Given the description of an element on the screen output the (x, y) to click on. 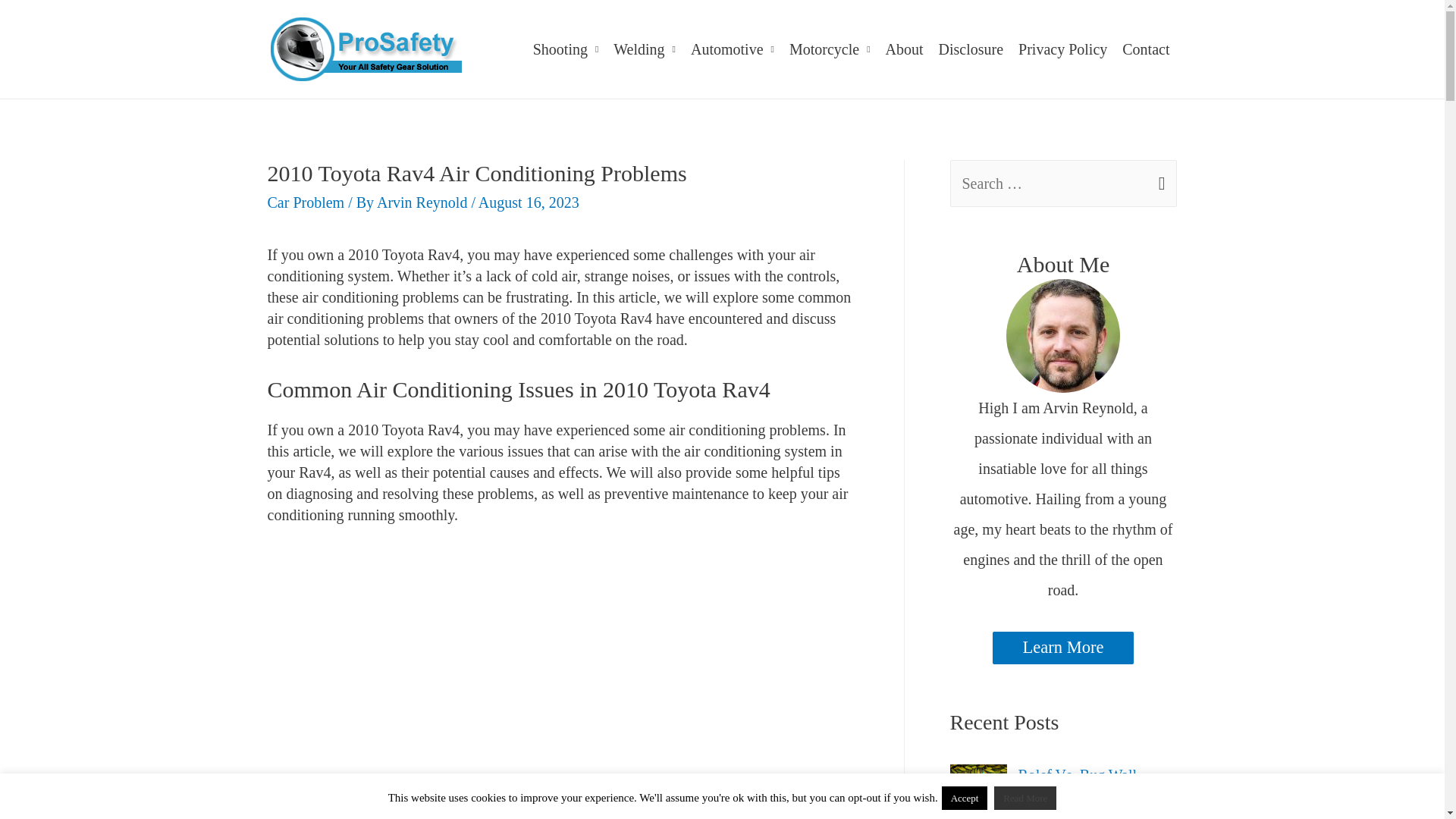
Motorcycle (829, 49)
Search (1158, 176)
Automotive (731, 49)
Search (1158, 176)
View all posts by Arvin Reynold (423, 202)
